Given the description of an element on the screen output the (x, y) to click on. 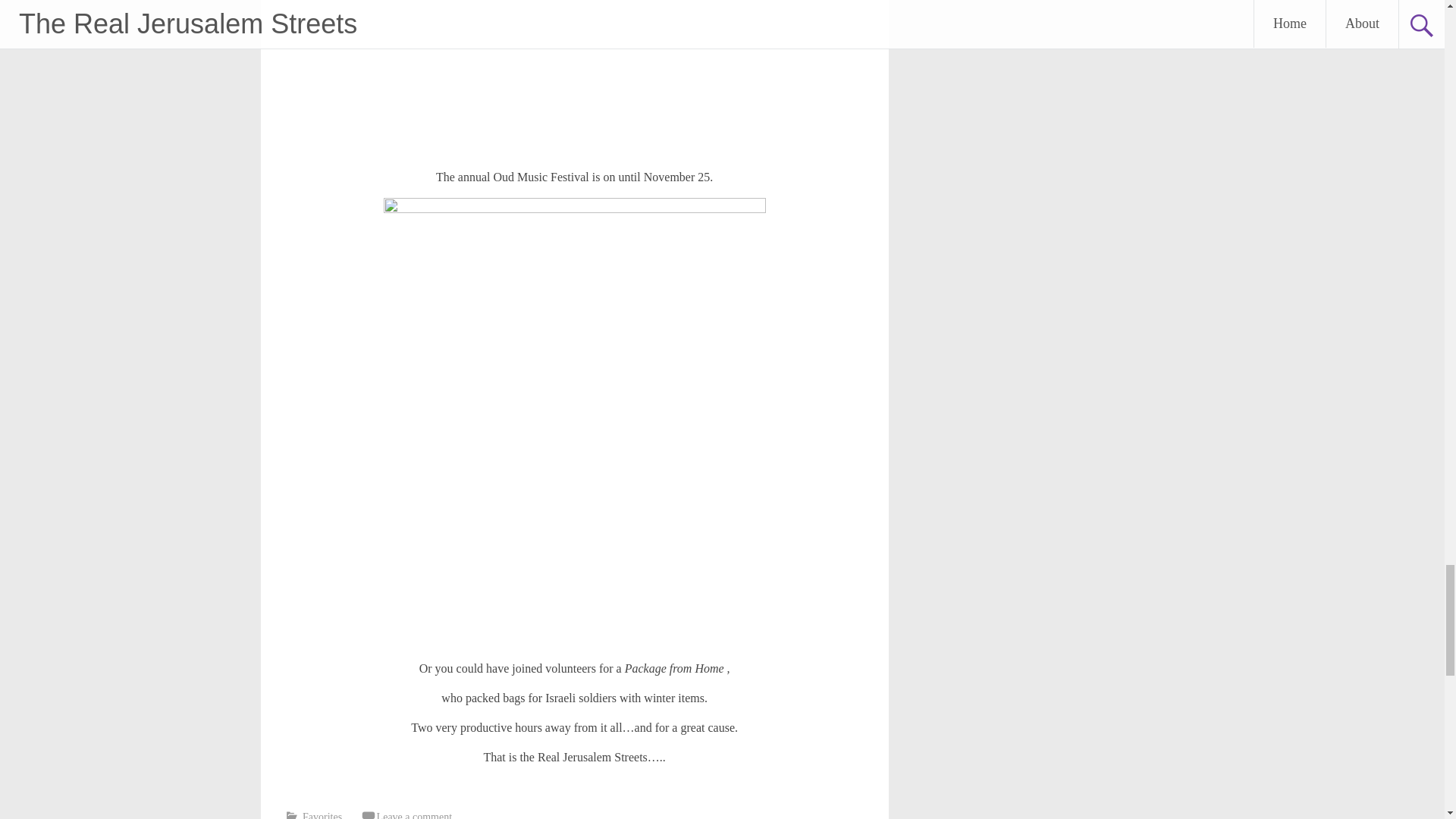
Leave a comment (414, 815)
Favorites (322, 815)
